Given the description of an element on the screen output the (x, y) to click on. 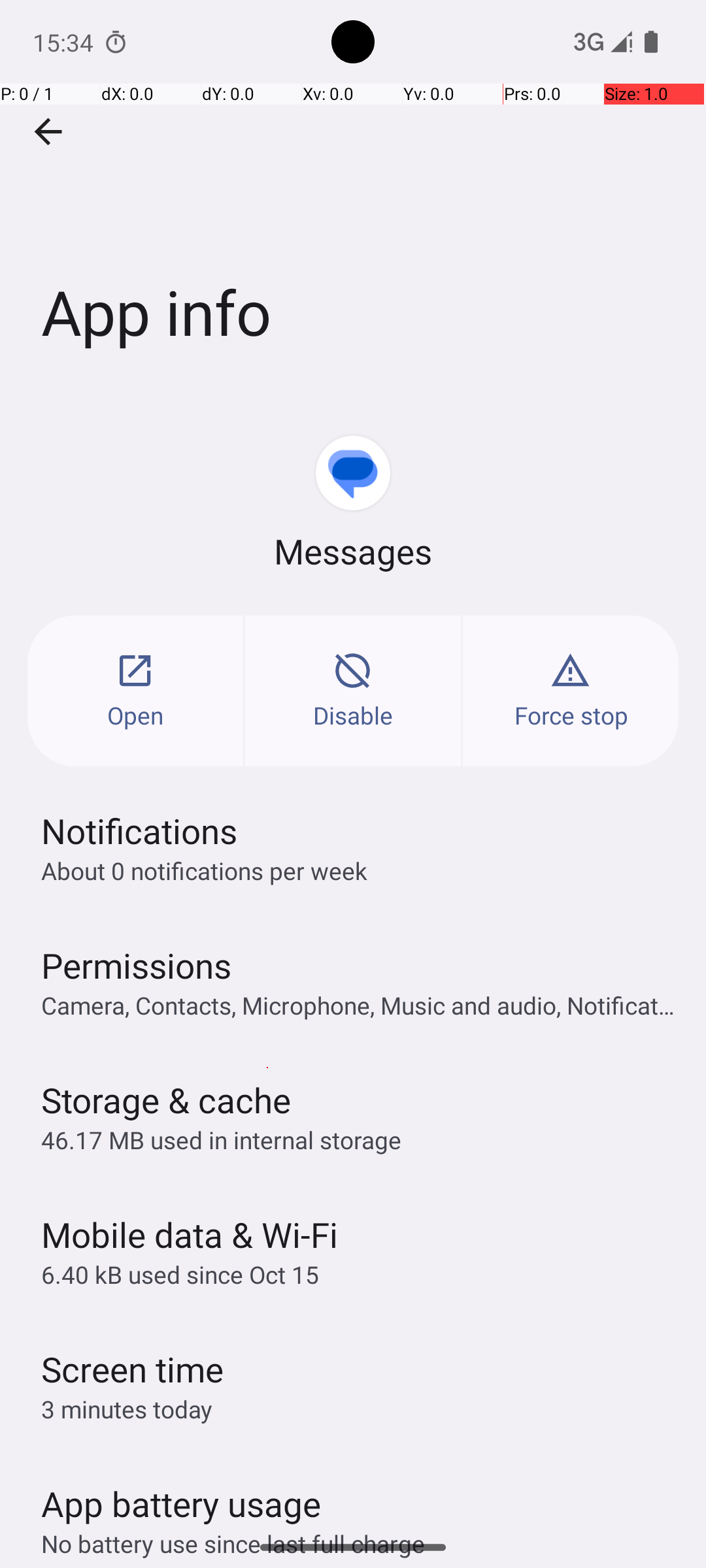
Camera, Contacts, Microphone, Music and audio, Notifications, Phone, Photos and videos, and SMS Element type: android.widget.TextView (359, 1004)
46.17 MB used in internal storage Element type: android.widget.TextView (221, 1139)
6.40 kB used since Oct 15 Element type: android.widget.TextView (180, 1273)
3 minutes today Element type: android.widget.TextView (127, 1408)
